Given the description of an element on the screen output the (x, y) to click on. 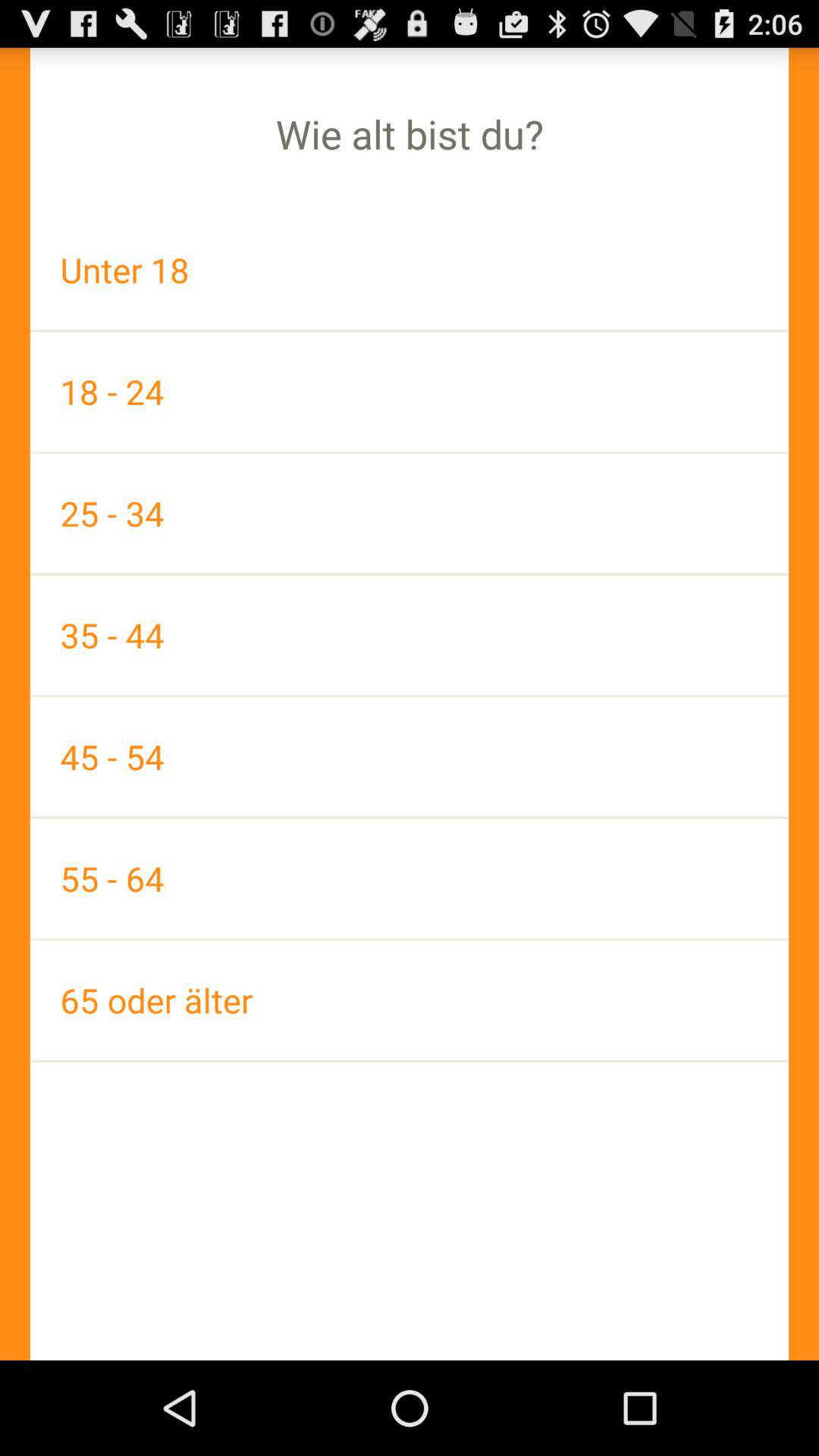
scroll to 45 - 54 app (409, 756)
